Given the description of an element on the screen output the (x, y) to click on. 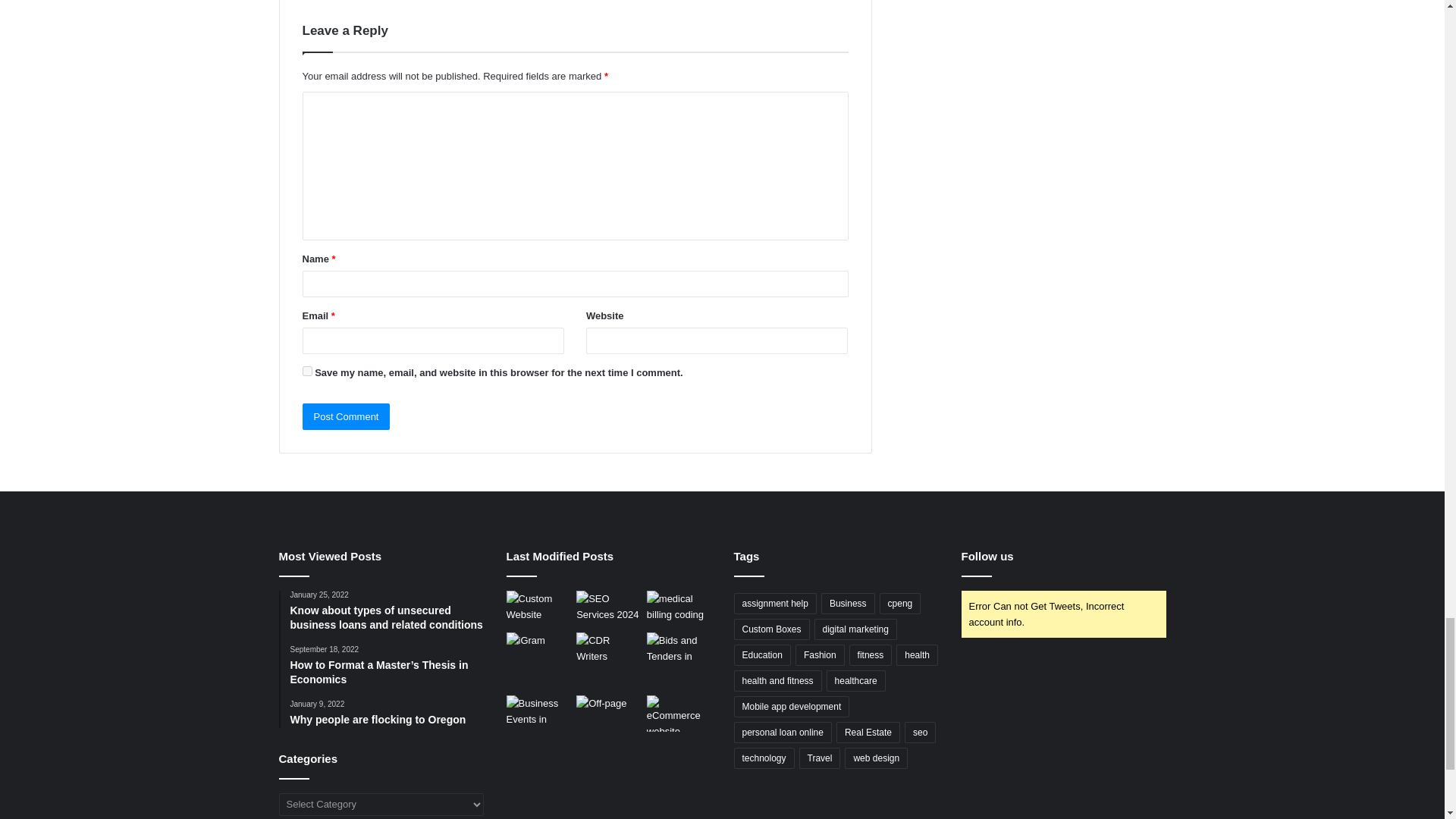
yes (306, 370)
Post Comment (345, 416)
